Given the description of an element on the screen output the (x, y) to click on. 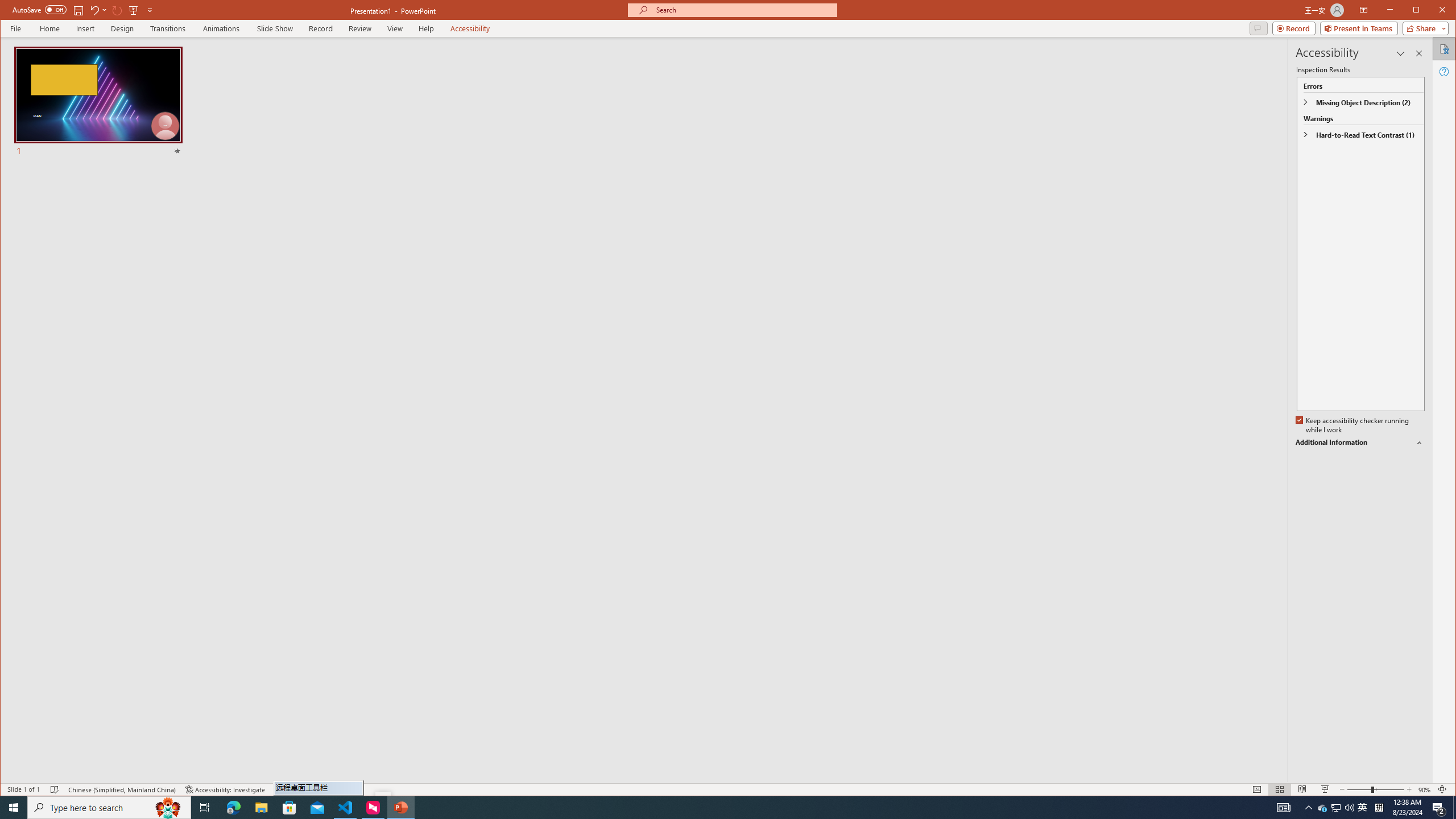
Additional Information (1360, 442)
Help (1444, 71)
Zoom In (1408, 789)
AutoSave (38, 9)
Insert (85, 28)
Accessibility (1444, 48)
Slide Sorter (1279, 789)
Tray Input Indicator - Chinese (Simplified, China) (1378, 807)
Present in Teams (1358, 28)
Comments (1322, 807)
Action Center, 2 new notifications (1258, 28)
Zoom (1439, 807)
Save (1374, 789)
